Given the description of an element on the screen output the (x, y) to click on. 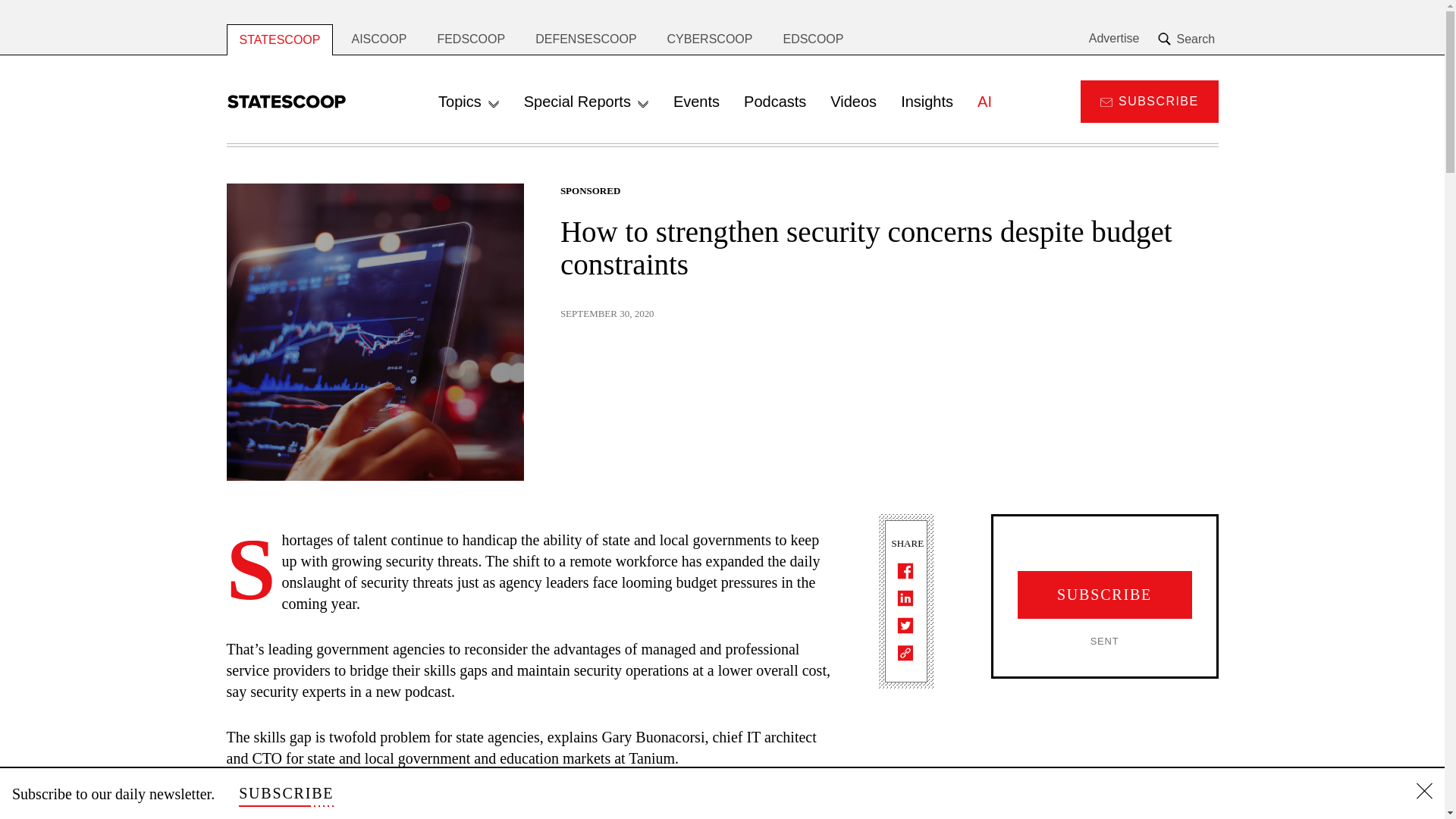
STATESCOOP (279, 39)
FEDSCOOP (470, 39)
AISCOOP (379, 39)
Topics (469, 101)
AI (984, 101)
Special Reports (586, 101)
Advertise (1114, 38)
CYBERSCOOP (710, 39)
Podcasts (775, 101)
EDSCOOP (813, 39)
DEFENSESCOOP (584, 39)
Videos (853, 101)
Search (1187, 38)
Insights (926, 101)
